Given the description of an element on the screen output the (x, y) to click on. 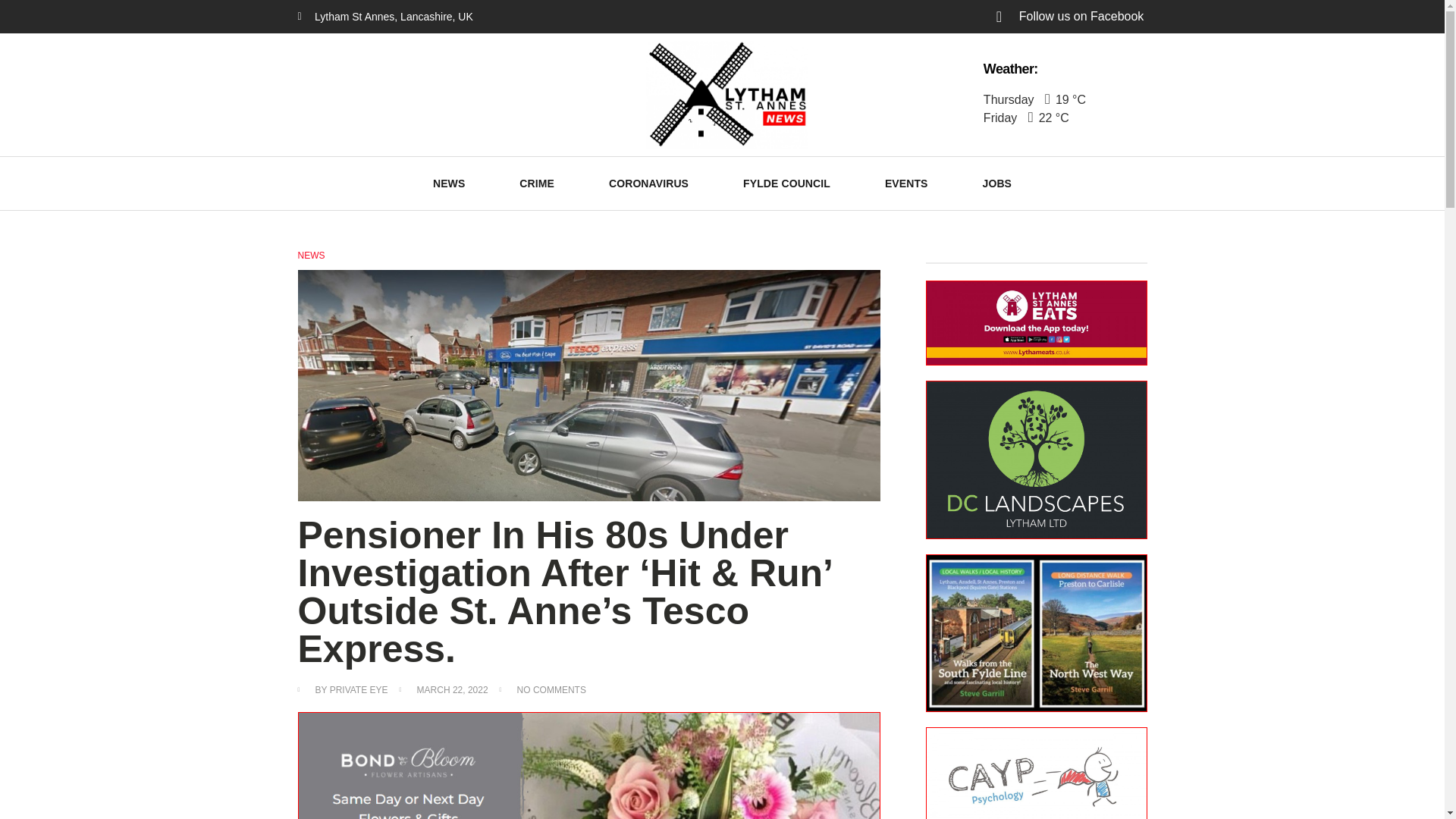
CRIME (536, 182)
EVENTS (906, 182)
JOBS (997, 182)
Follow us on Facebook (1052, 16)
CORONAVIRUS (648, 182)
FYLDE COUNCIL (786, 182)
NEWS (449, 182)
